Given the description of an element on the screen output the (x, y) to click on. 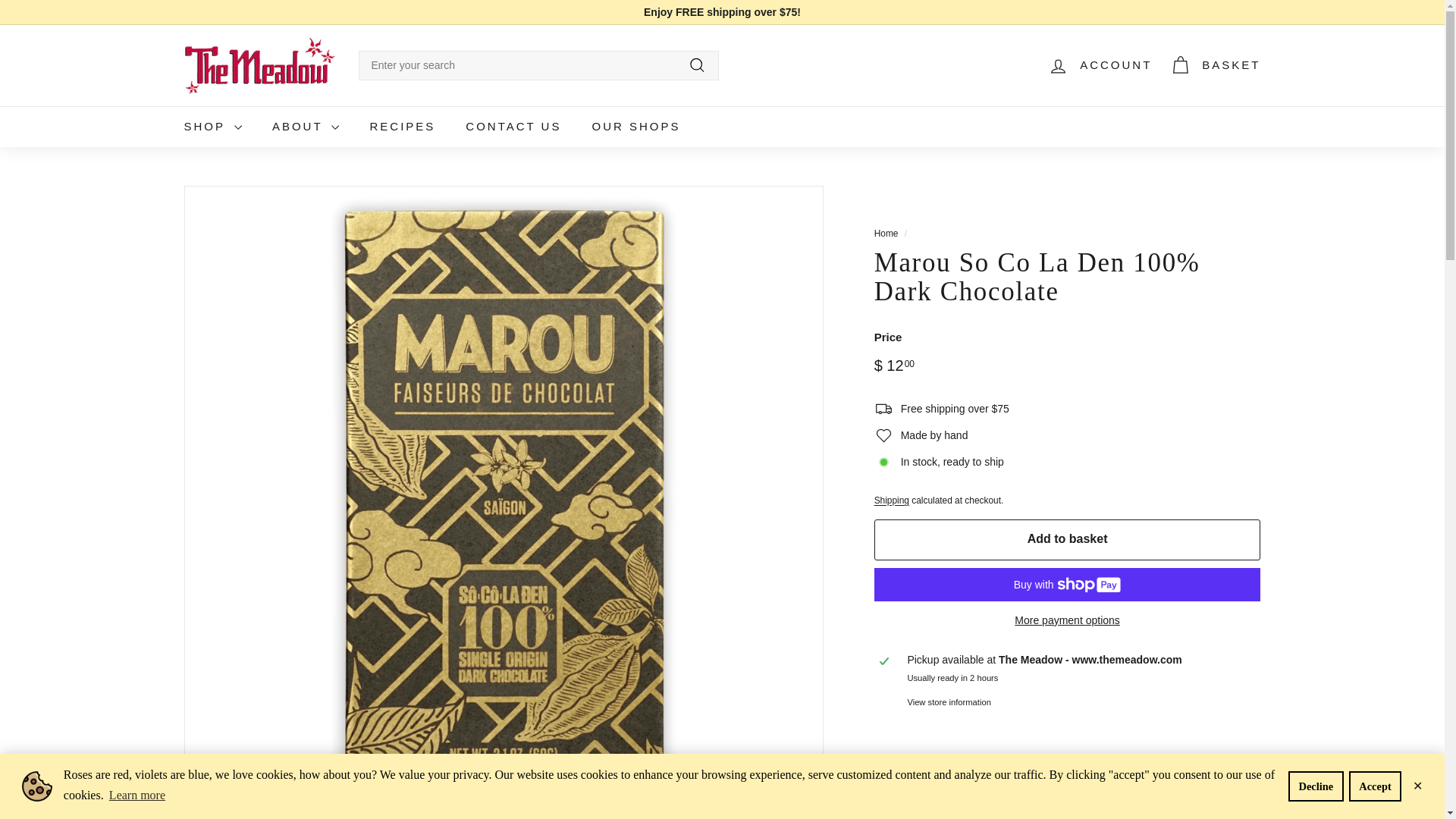
Back to the frontpage (886, 233)
Learn more (137, 794)
Accept (1374, 786)
BASKET (1214, 65)
ACCOUNT (1099, 65)
Decline (1315, 786)
